Given the description of an element on the screen output the (x, y) to click on. 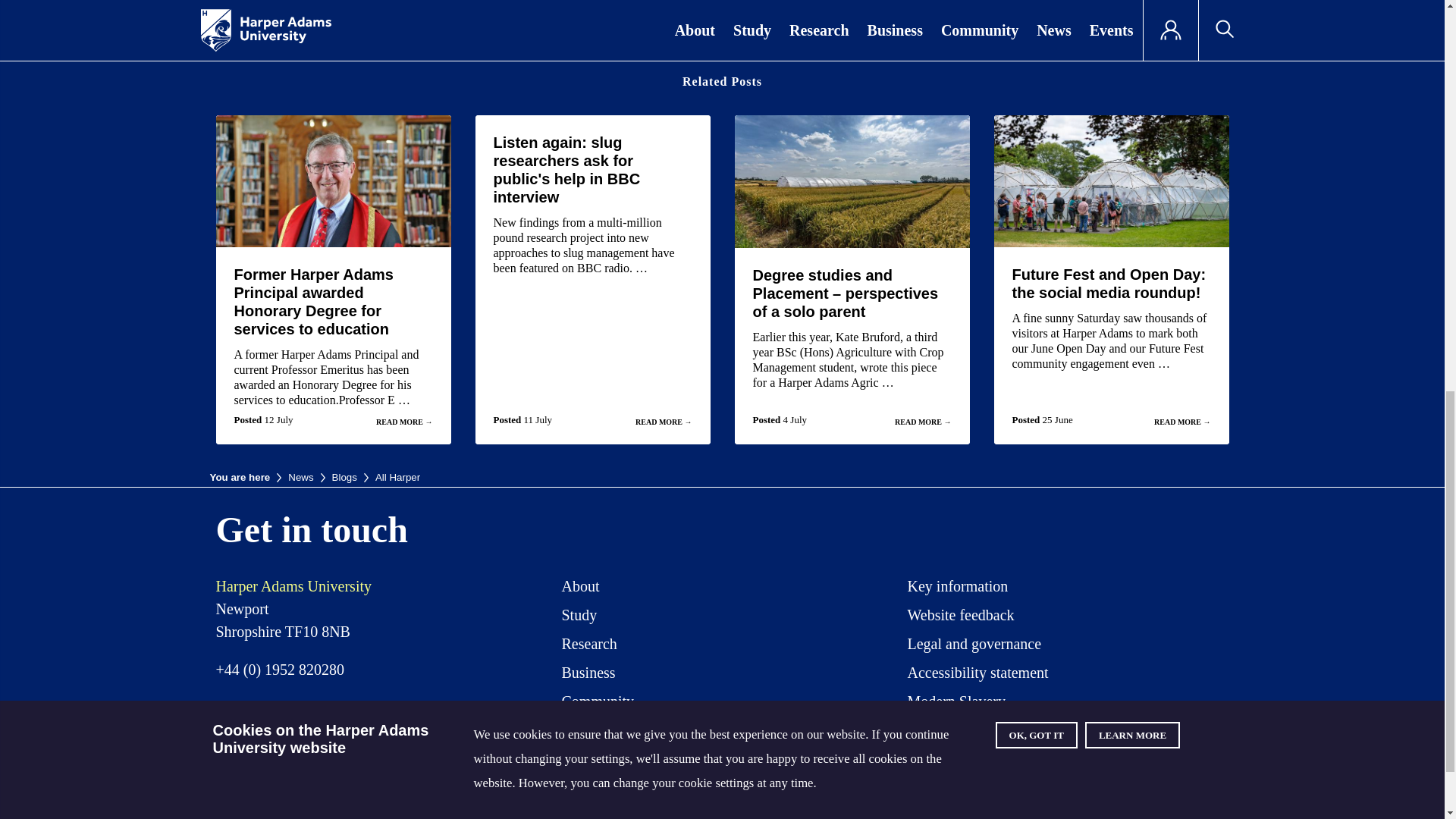
X - opens in a new window (932, 786)
Instagram - opens in a new window (1044, 786)
Modern Slavery Act PDF - opens in a new window (955, 704)
LinkedIn - opens in a new window (1157, 786)
Facebook - opens in a new window (989, 786)
Vimeo - opens in a new window (1101, 786)
